Given the description of an element on the screen output the (x, y) to click on. 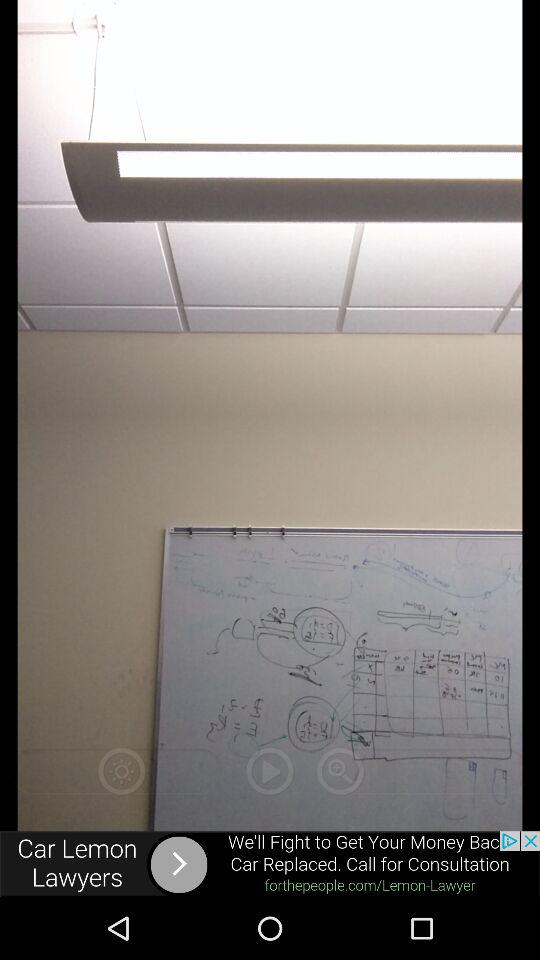
advertisement (270, 864)
